Given the description of an element on the screen output the (x, y) to click on. 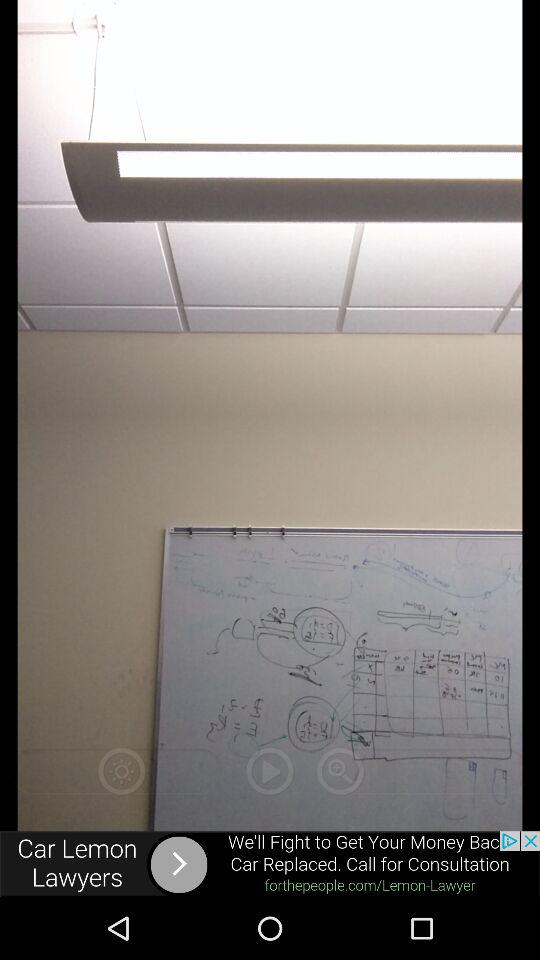
advertisement (270, 864)
